Given the description of an element on the screen output the (x, y) to click on. 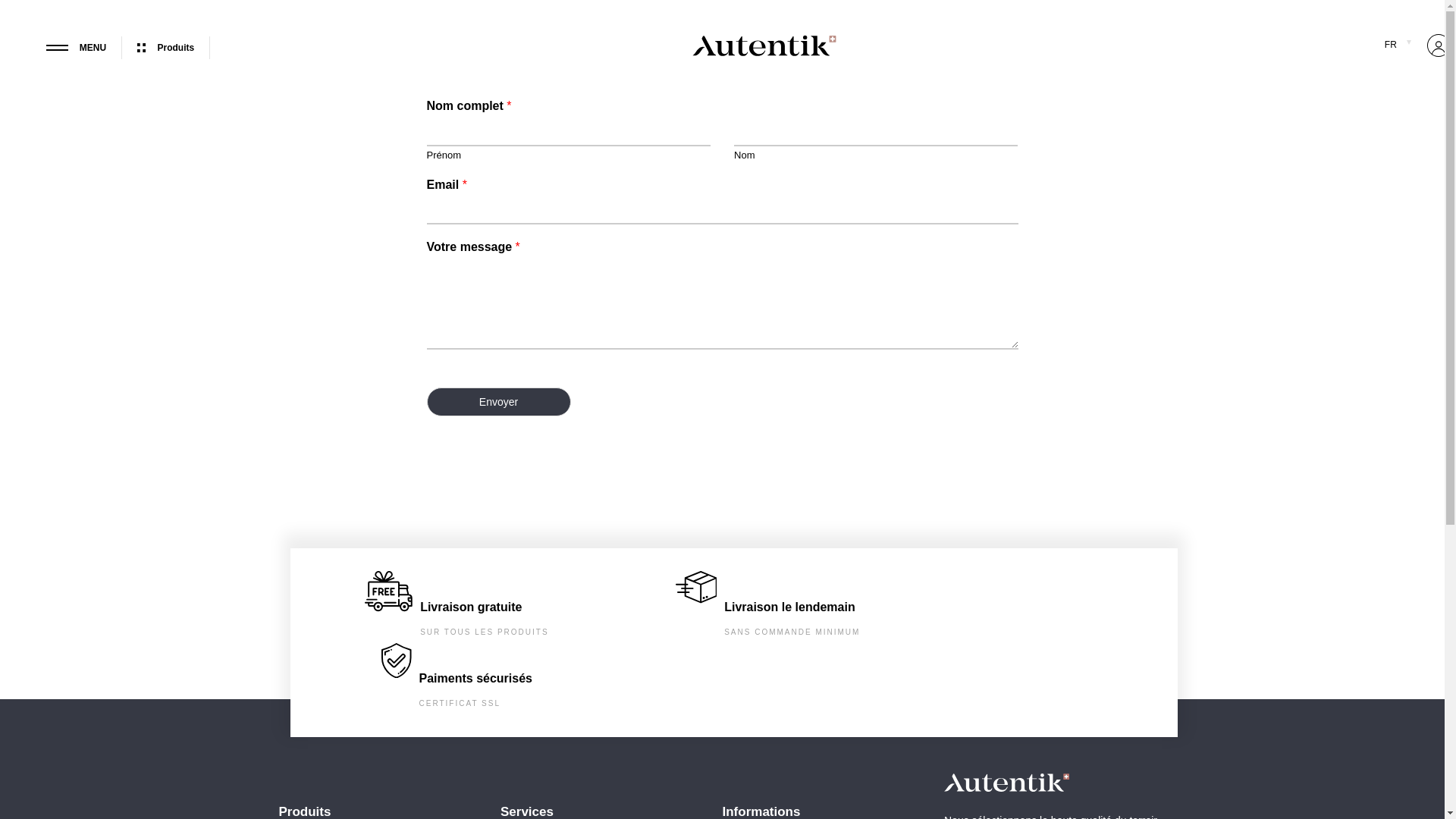
Produits Element type: text (173, 47)
MENU Element type: text (84, 47)
Envoyer Element type: text (498, 401)
FR Element type: text (1397, 43)
